Given the description of an element on the screen output the (x, y) to click on. 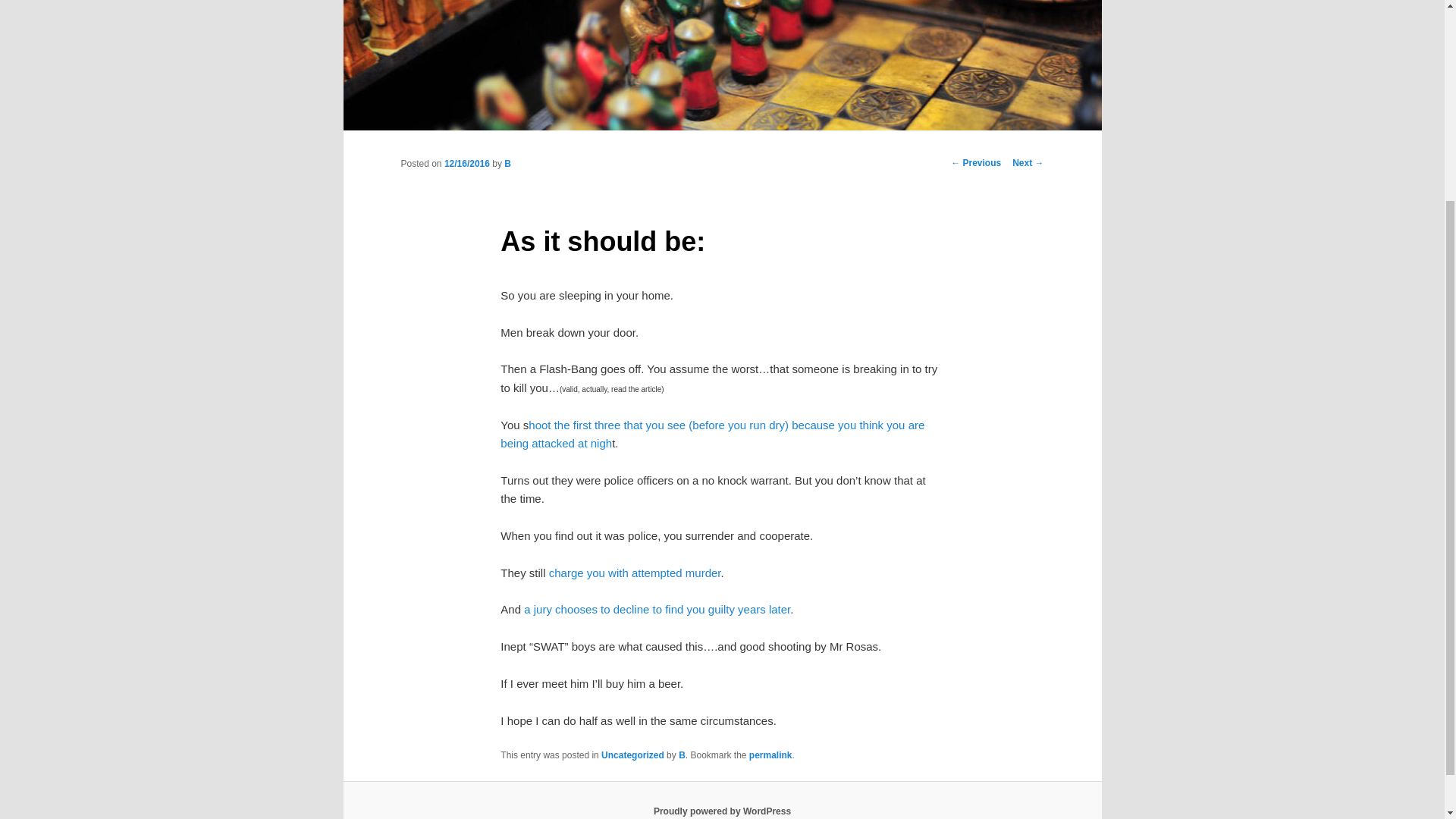
a jury chooses to decline to find you guilty years later (657, 608)
permalink (770, 755)
Proudly powered by WordPress (721, 810)
Permalink to As it should be: (770, 755)
charge you with attempted murder (634, 572)
Semantic Personal Publishing Platform (721, 810)
13:16 (466, 163)
Uncategorized (632, 755)
